Given the description of an element on the screen output the (x, y) to click on. 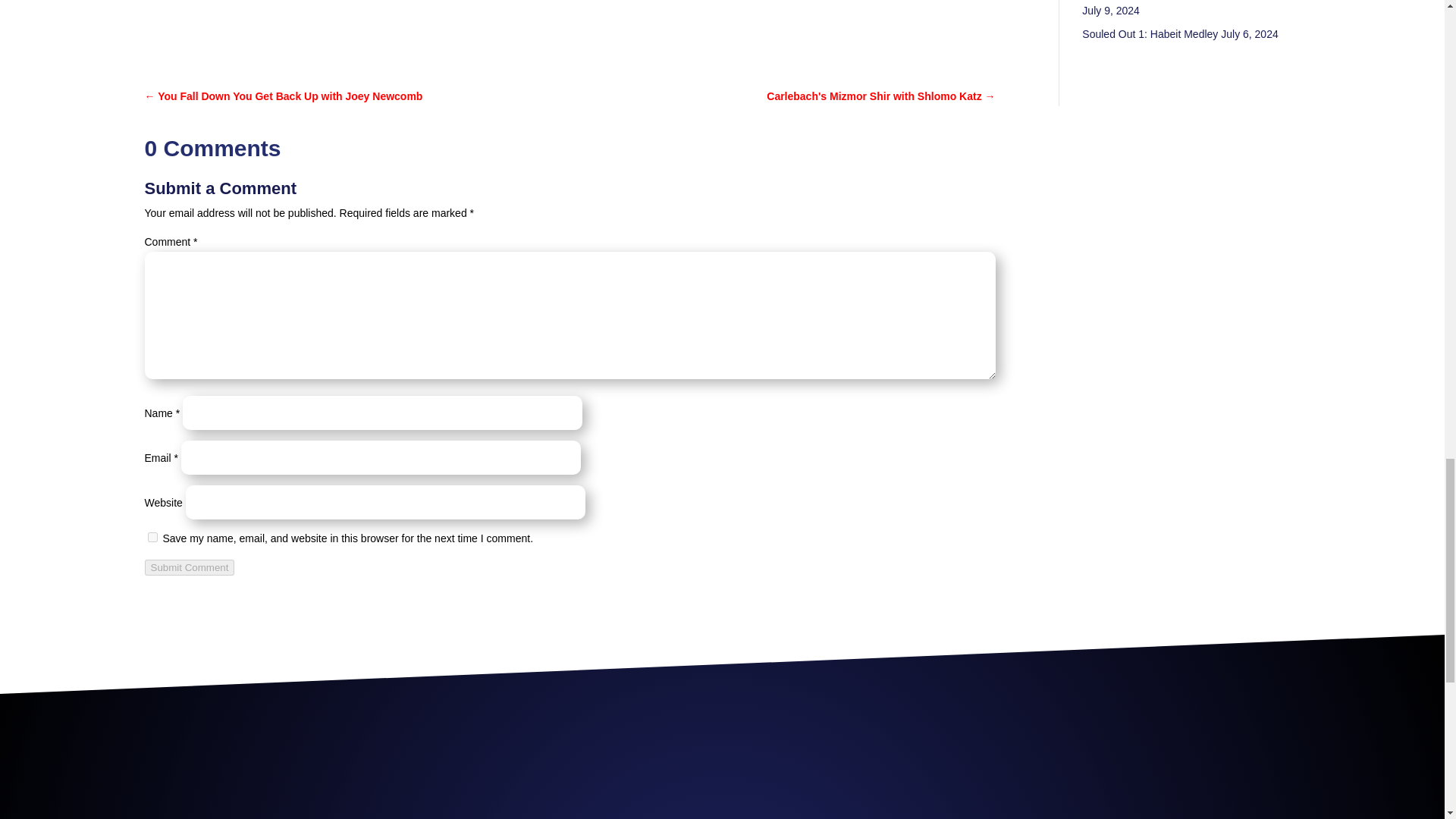
yes (152, 537)
logowhite (722, 766)
Submit Comment (189, 567)
